Given the description of an element on the screen output the (x, y) to click on. 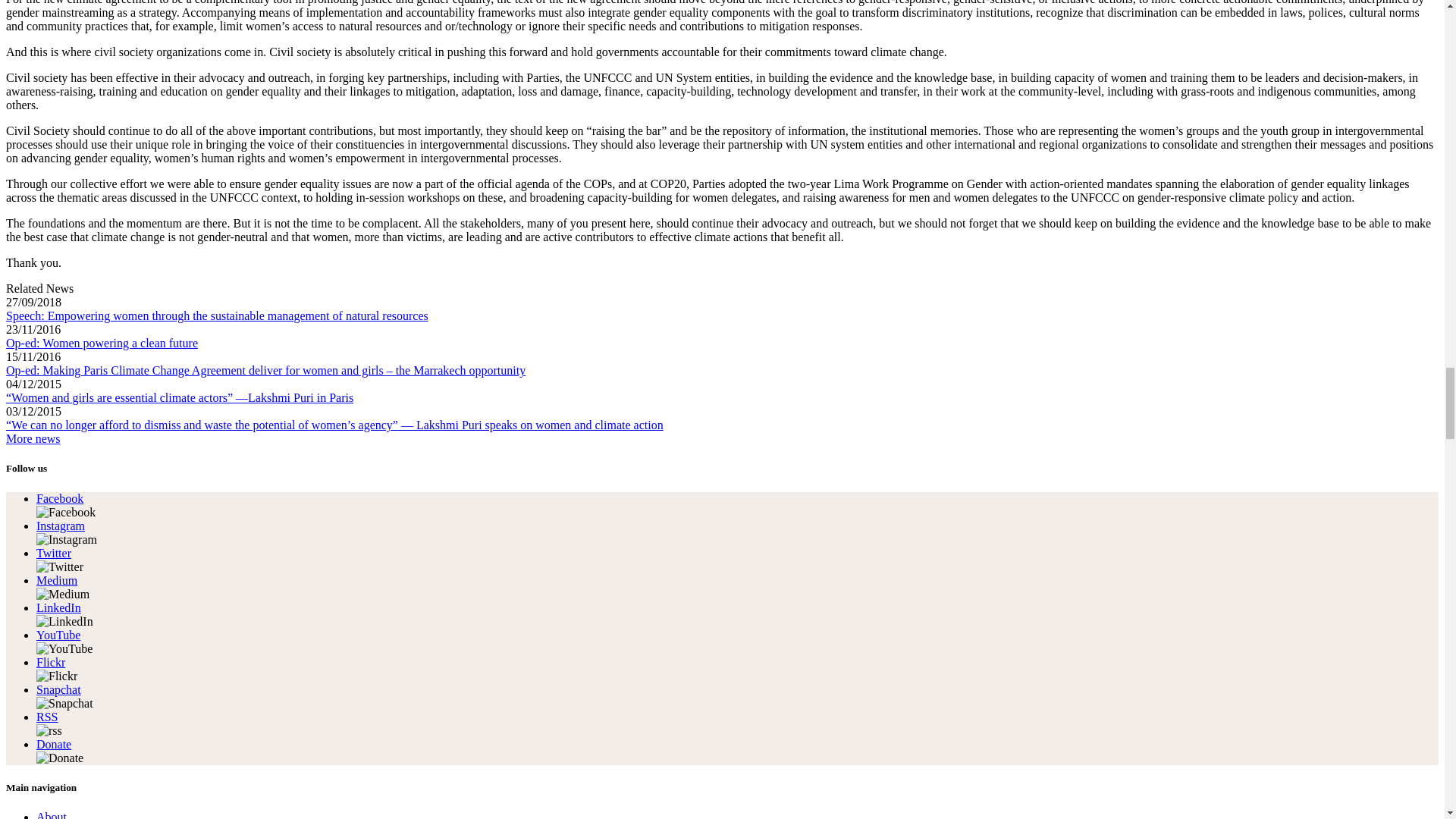
Donate (53, 744)
